Given the description of an element on the screen output the (x, y) to click on. 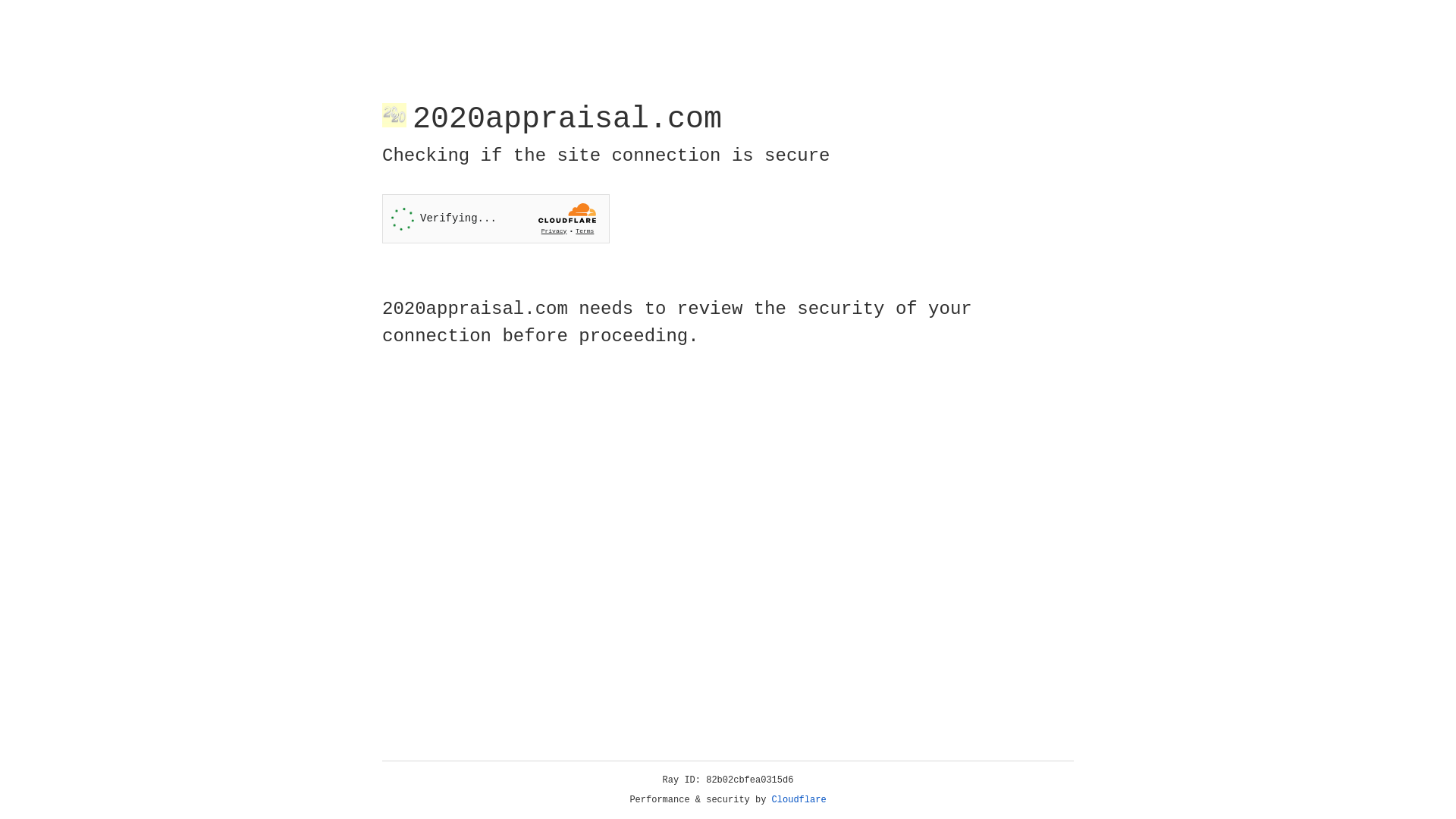
Widget containing a Cloudflare security challenge Element type: hover (495, 218)
Cloudflare Element type: text (798, 799)
